Given the description of an element on the screen output the (x, y) to click on. 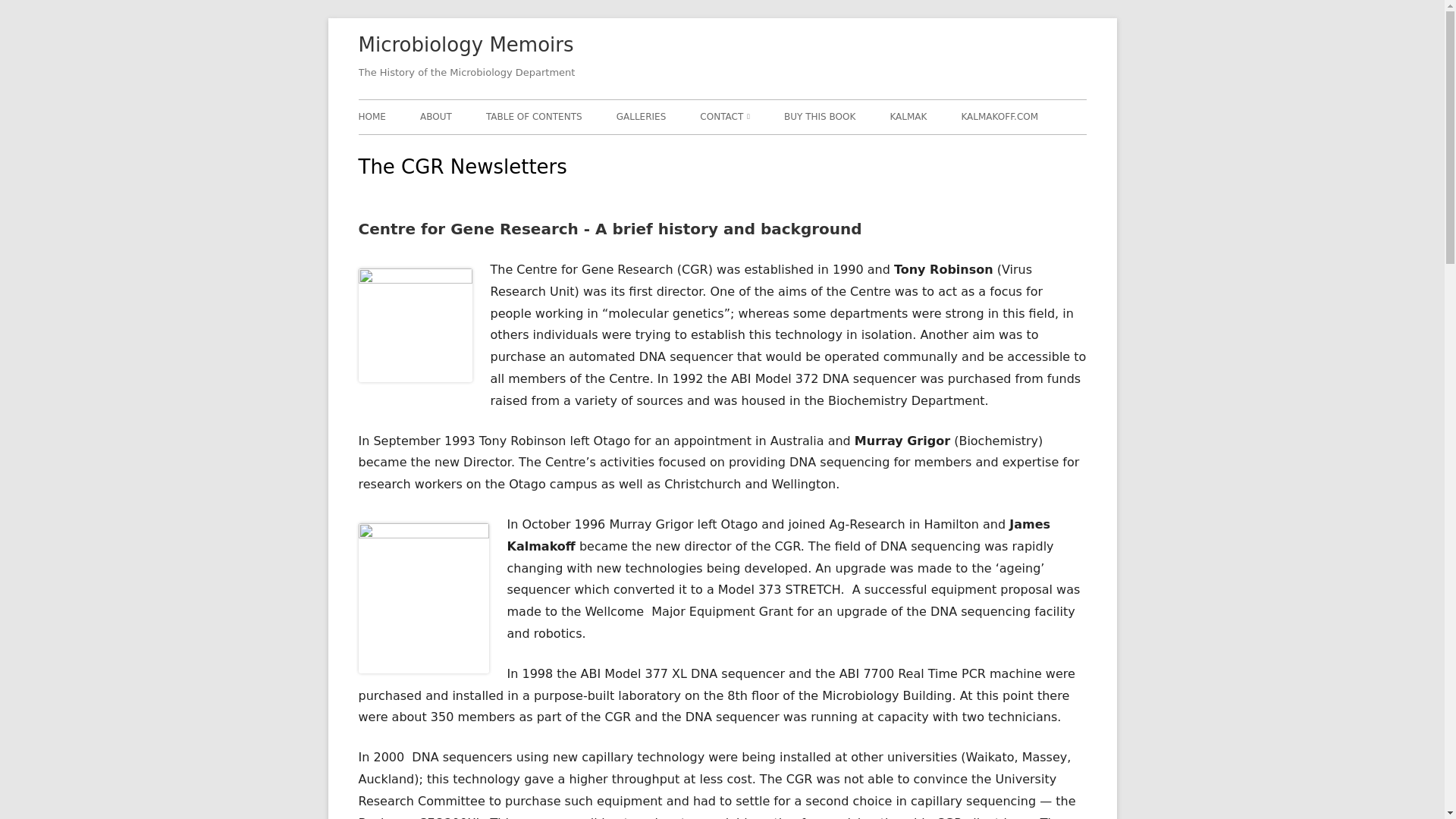
TABLE OF CONTENTS (534, 116)
CONTACT (724, 116)
KALMAK (907, 116)
ABOUT (435, 116)
BUY THIS BOOK (820, 116)
PRIVACY POLICY (786, 149)
Microbiology Memoirs (465, 45)
GALLERIES (640, 116)
KALMAKOFF.COM (999, 116)
